Given the description of an element on the screen output the (x, y) to click on. 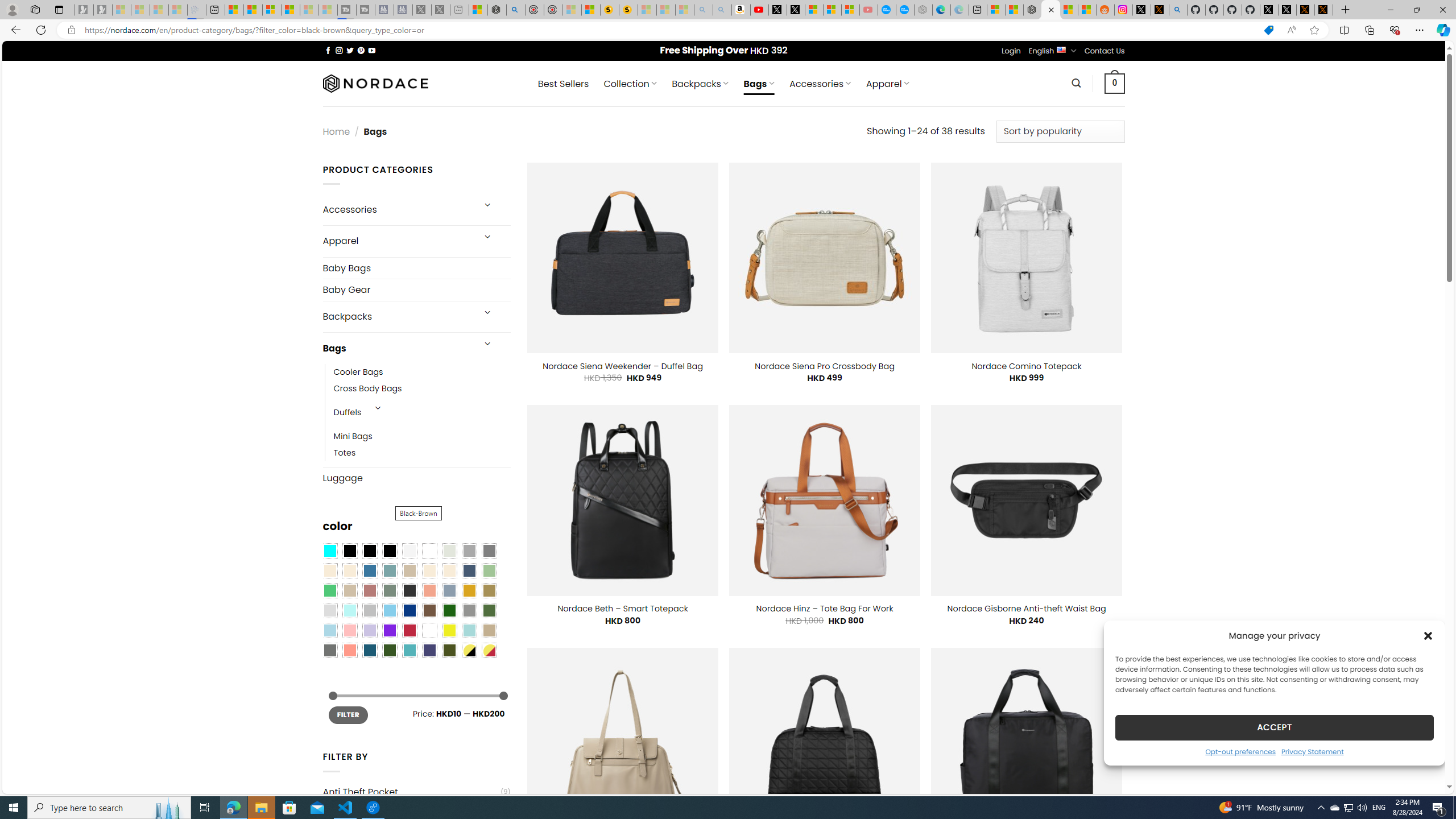
Hale Navy (468, 570)
Anti Theft Pocket (410, 791)
Nordace - Bags (1050, 9)
Shop order (1060, 131)
Green (488, 610)
poe - Search (515, 9)
Log in to X / X (1142, 9)
Red (408, 630)
Gold (468, 590)
